Given the description of an element on the screen output the (x, y) to click on. 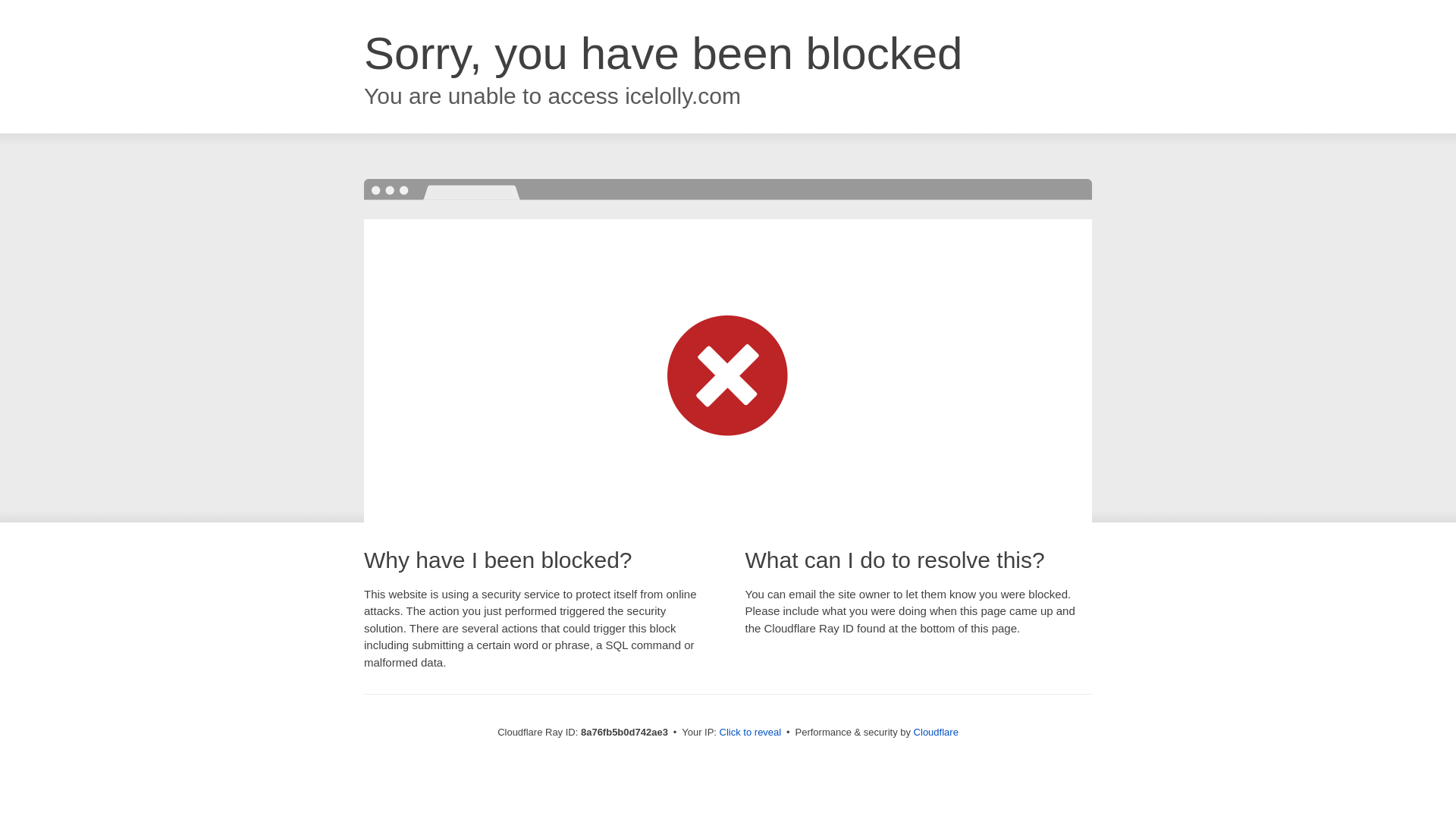
Cloudflare (936, 731)
Click to reveal (750, 732)
